Given the description of an element on the screen output the (x, y) to click on. 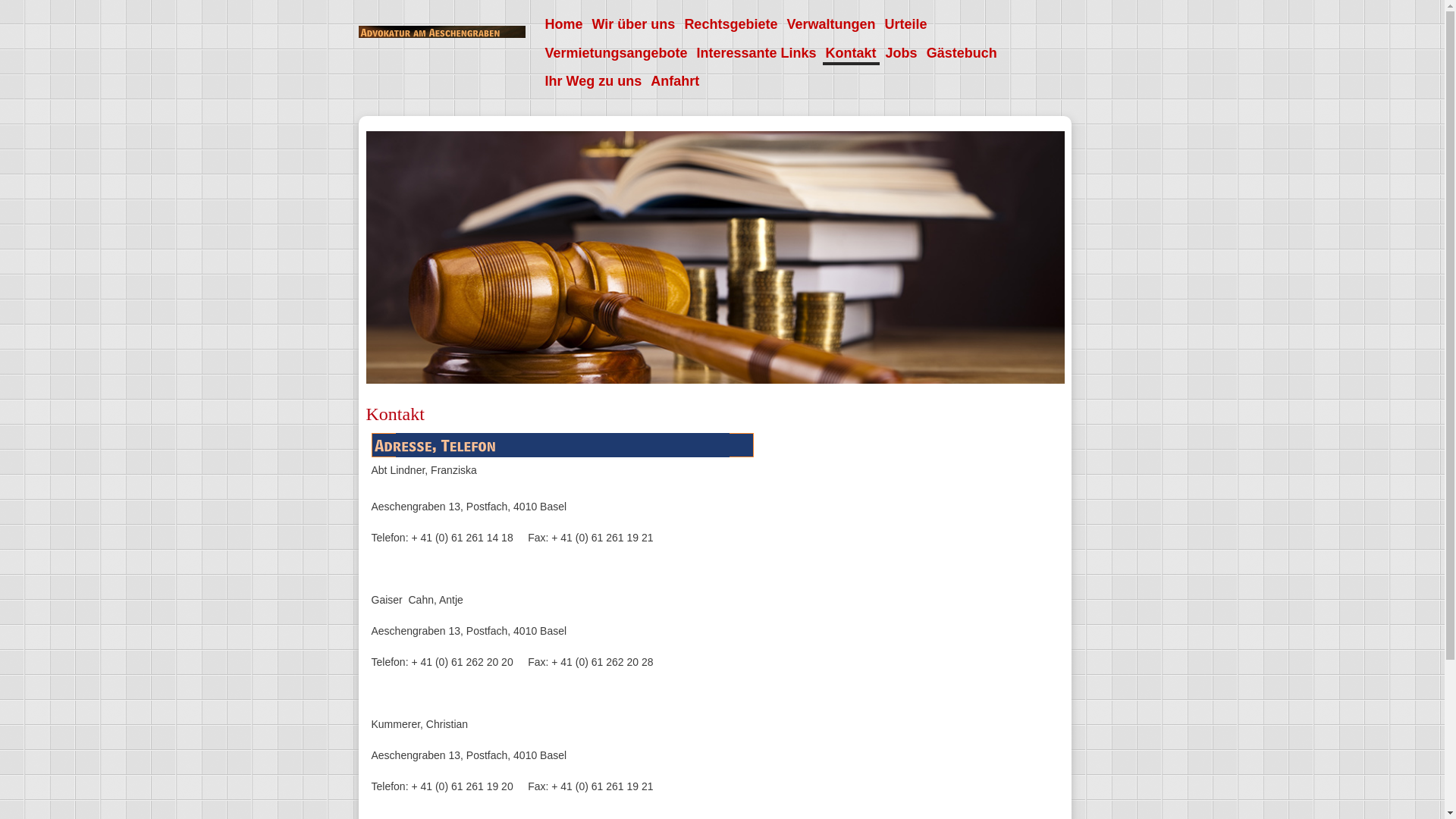
Ihr Weg zu uns Element type: text (592, 81)
Anfahrt Element type: text (674, 81)
Verwaltungen Element type: text (830, 24)
Interessante Links Element type: text (756, 52)
Urteile Element type: text (905, 24)
Vermietungsangebote Element type: text (615, 52)
Kontakt Element type: text (850, 54)
Rechtsgebiete Element type: text (730, 24)
Jobs Element type: text (901, 52)
Home Element type: text (563, 24)
